Given the description of an element on the screen output the (x, y) to click on. 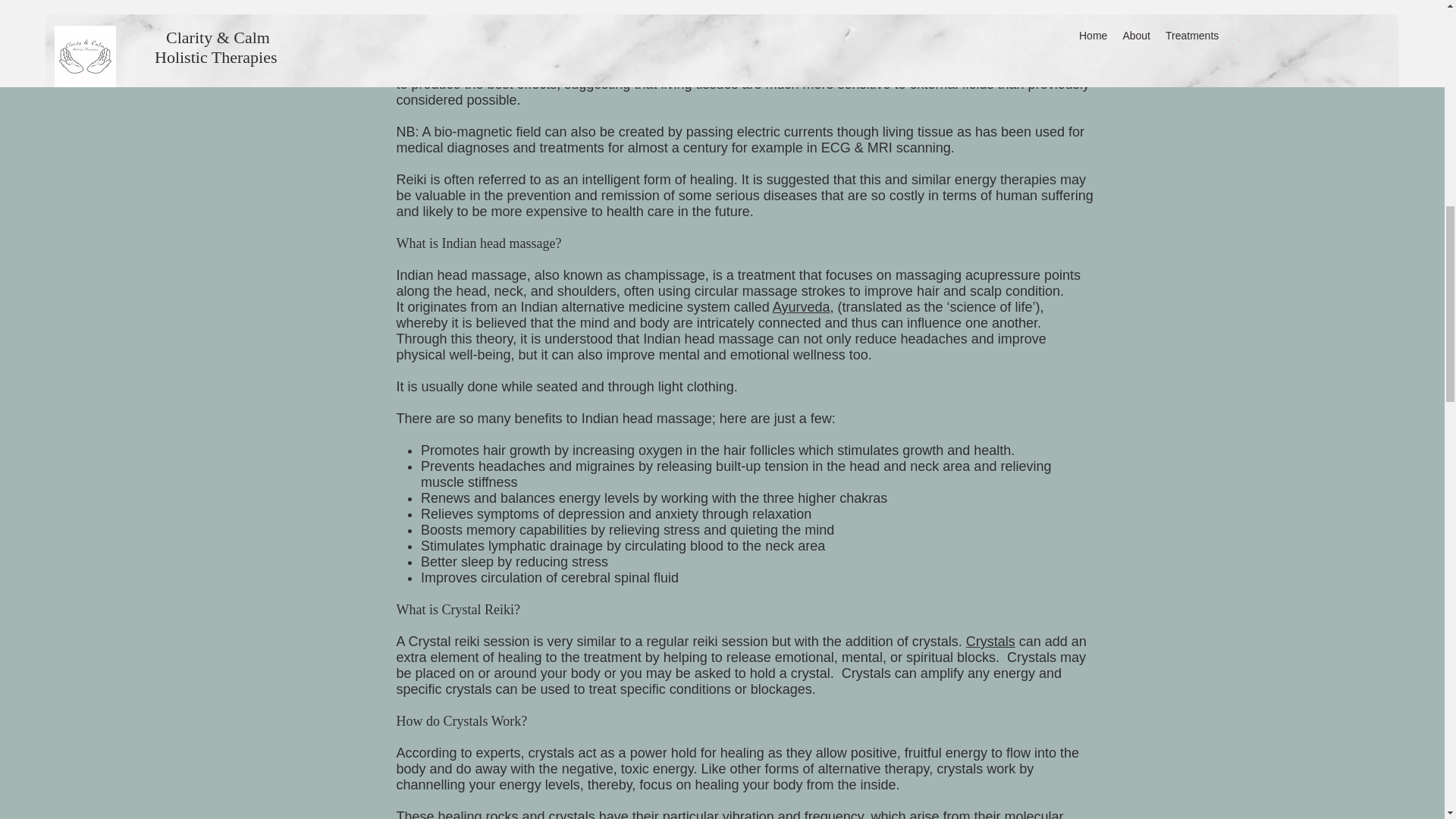
Crystals (990, 641)
What is Crystal Reiki? (457, 609)
Ayurveda (801, 306)
